Given the description of an element on the screen output the (x, y) to click on. 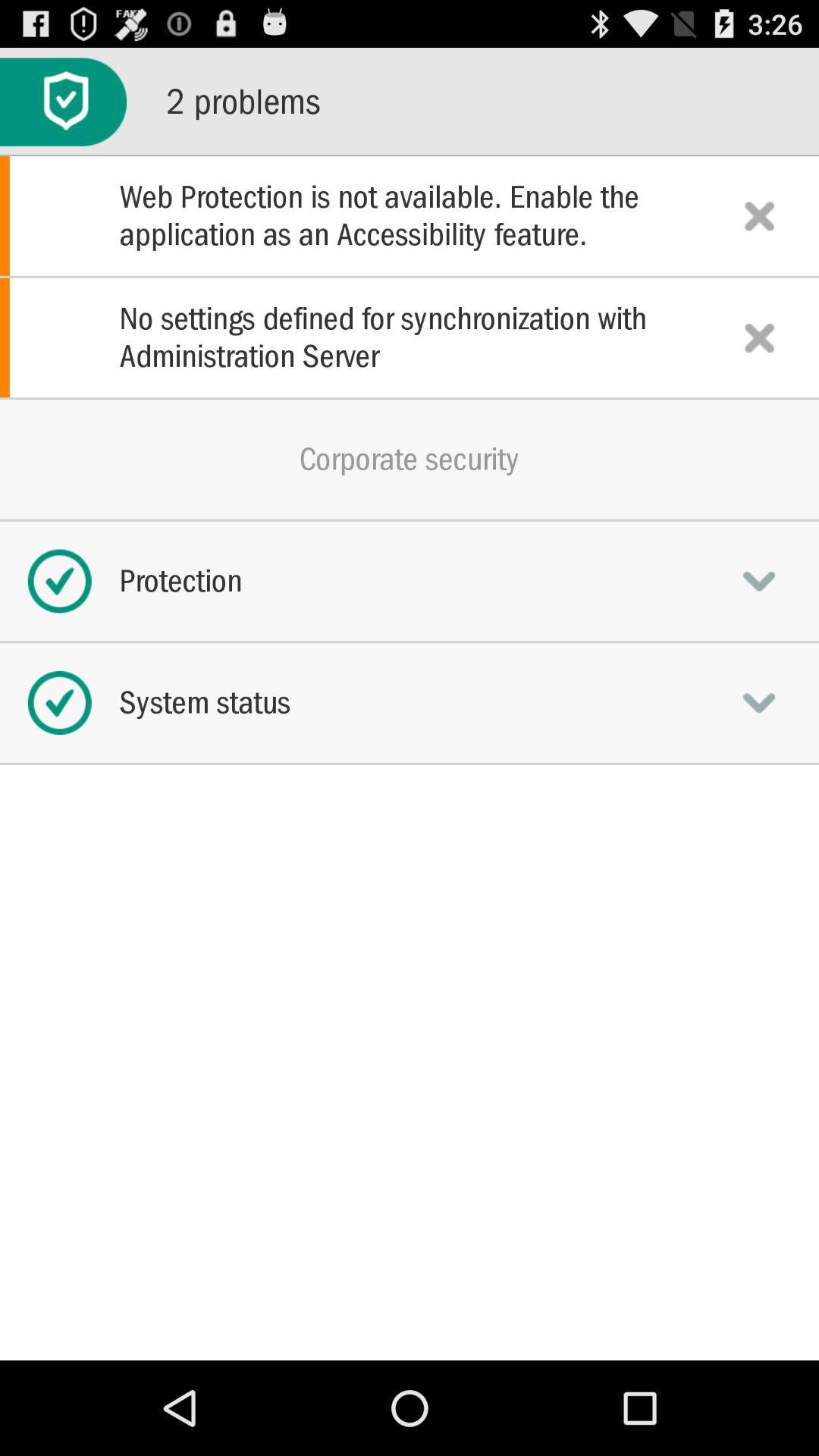
expand menu (759, 702)
